Given the description of an element on the screen output the (x, y) to click on. 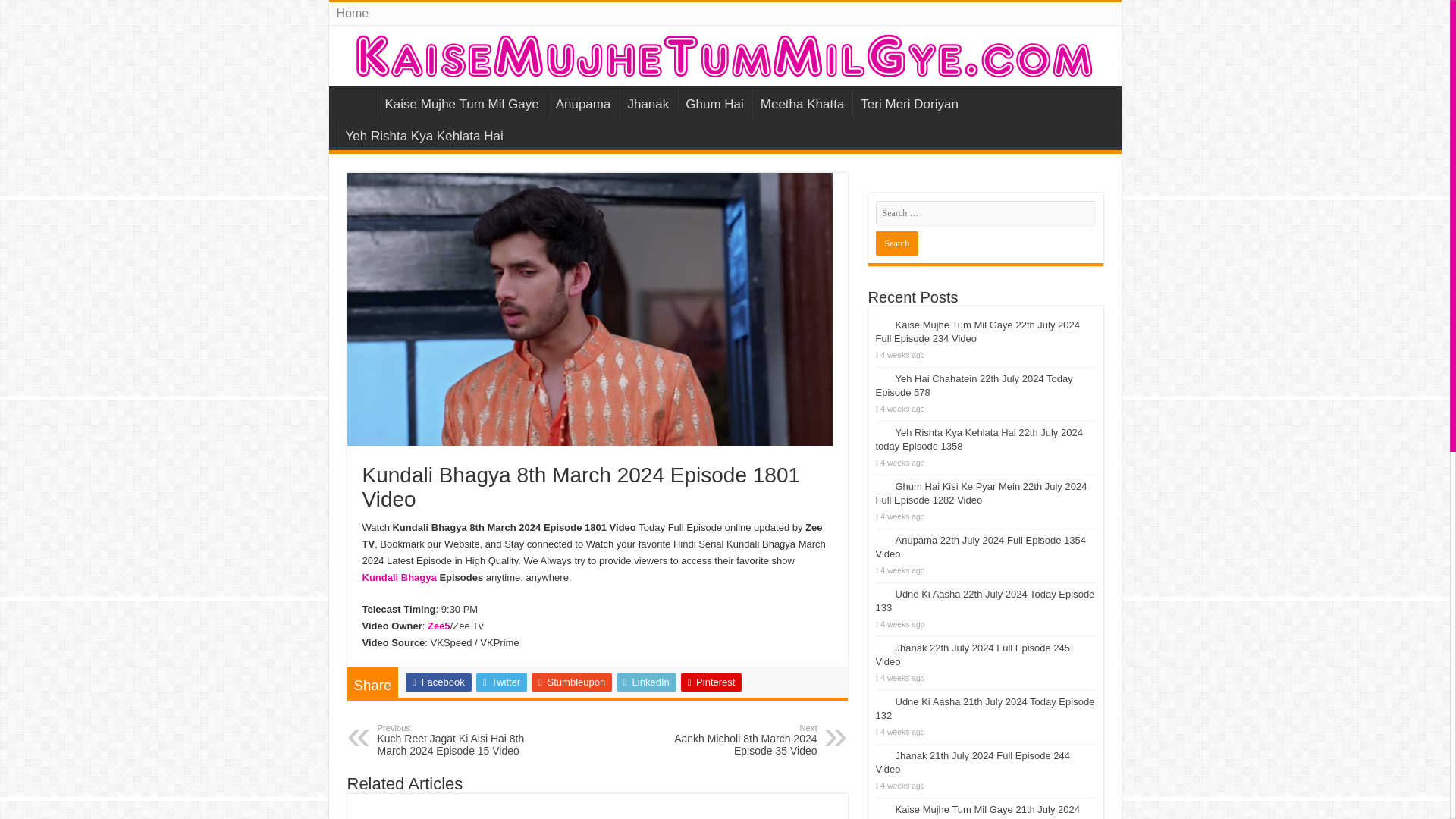
Anupama (582, 101)
Zee5 (438, 625)
Home (353, 13)
Meetha Khatta (801, 101)
Kaise Mujhe Tum Mil Gaye (725, 55)
Search (896, 242)
Yeh Rishta Kya Kehlata Hai 22th July 2024 today Episode 1358 (978, 439)
Search (896, 242)
